Given the description of an element on the screen output the (x, y) to click on. 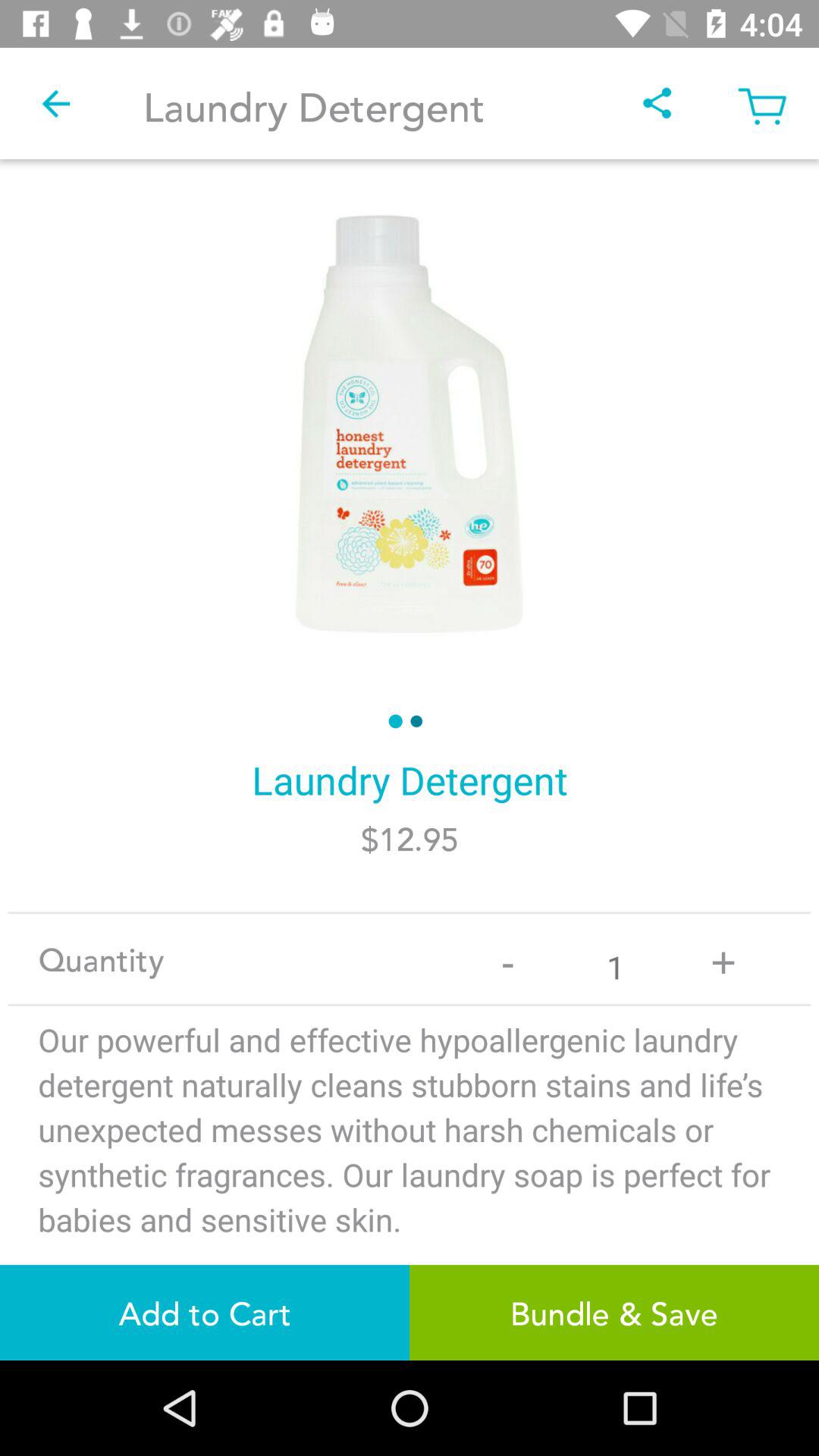
open the bundle & save item (614, 1312)
